Given the description of an element on the screen output the (x, y) to click on. 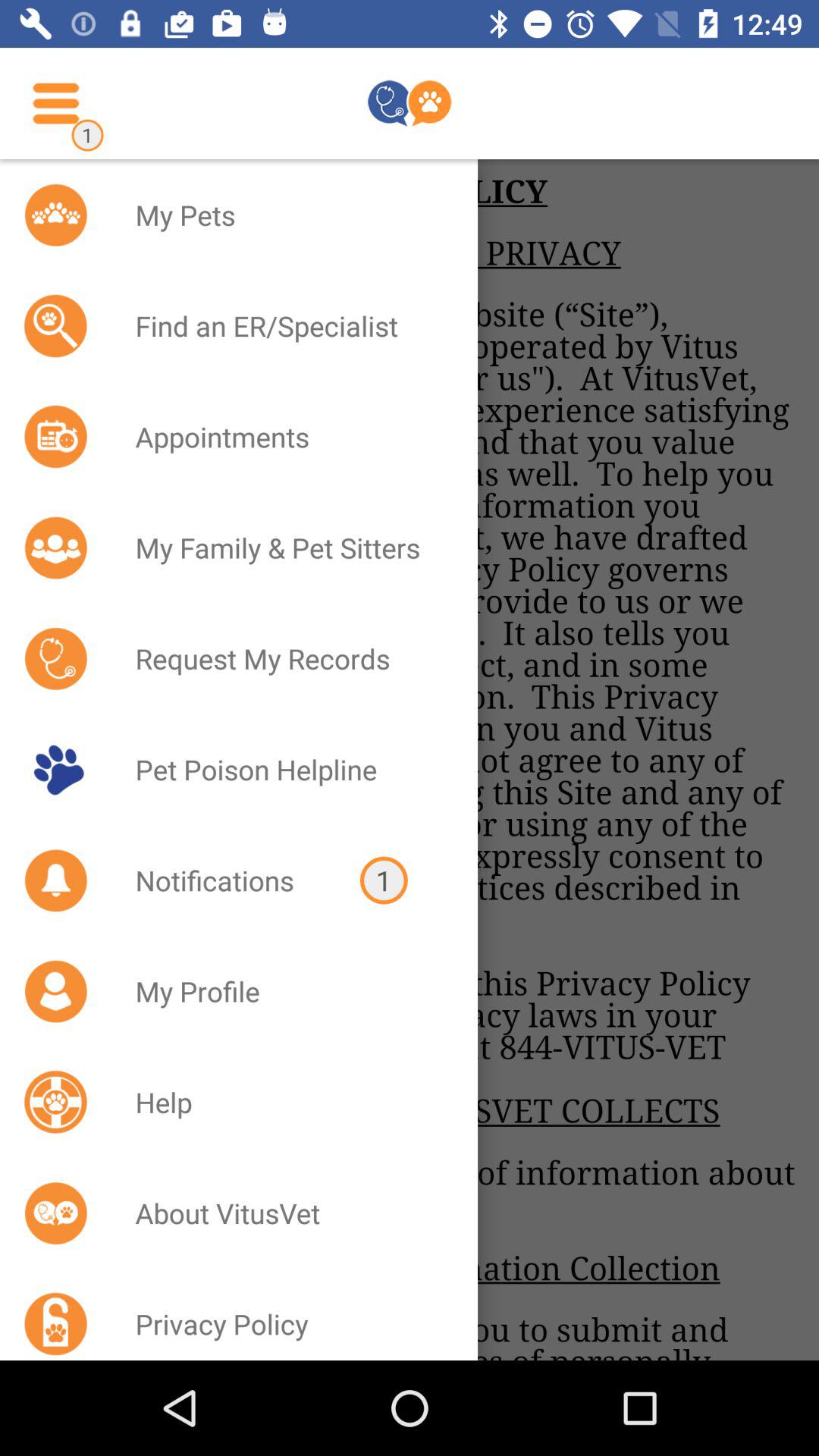
select privacy policy (286, 1318)
